Given the description of an element on the screen output the (x, y) to click on. 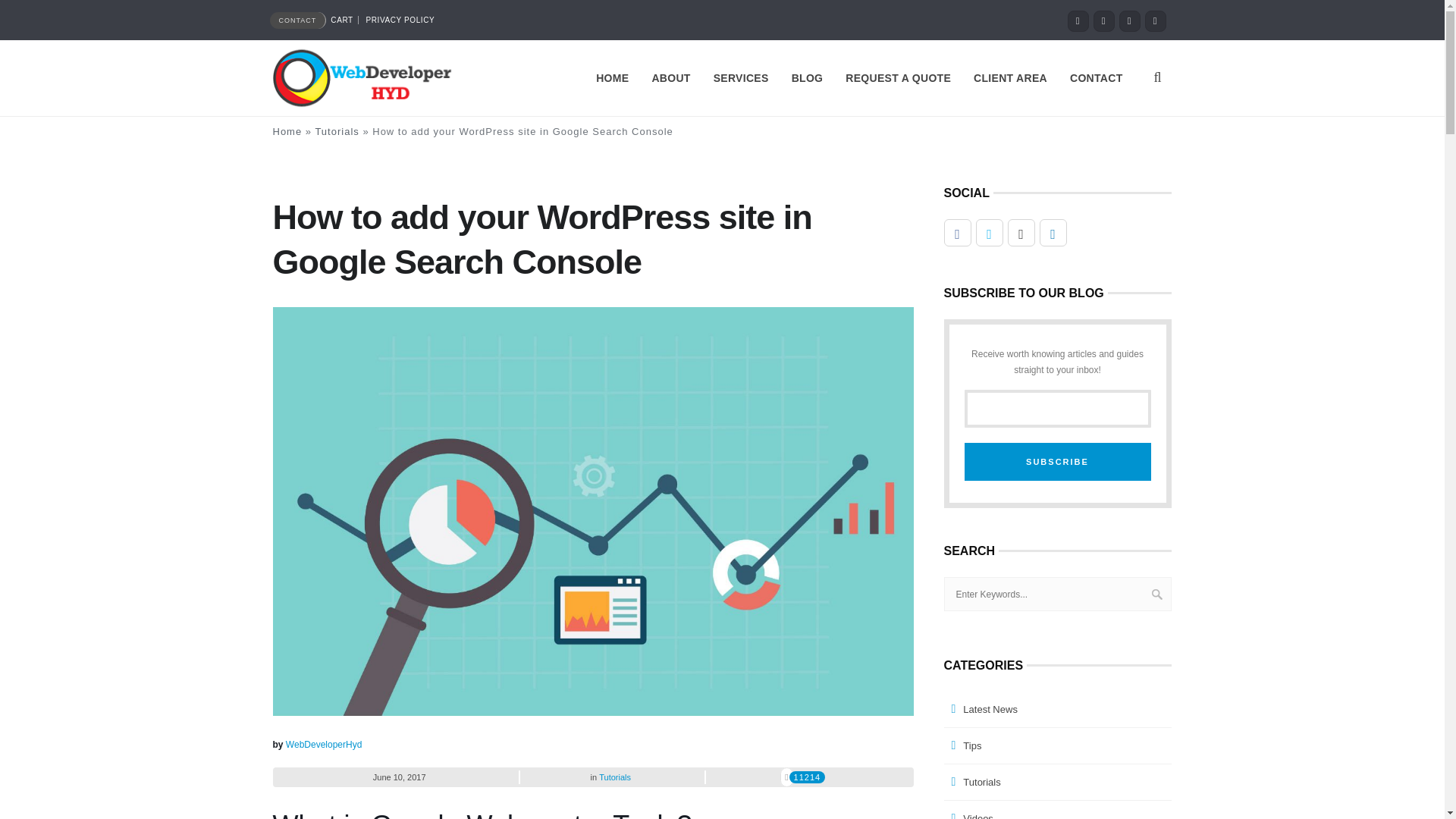
REQUEST A QUOTE (898, 78)
CART (342, 19)
CLIENT AREA (1010, 78)
SERVICES (740, 78)
CONTACT (297, 20)
PRIVACY POLICY (400, 19)
Tutorials (336, 131)
Posts by WebDeveloperHyd (323, 744)
CONTACT (1096, 78)
Home (287, 131)
